Given the description of an element on the screen output the (x, y) to click on. 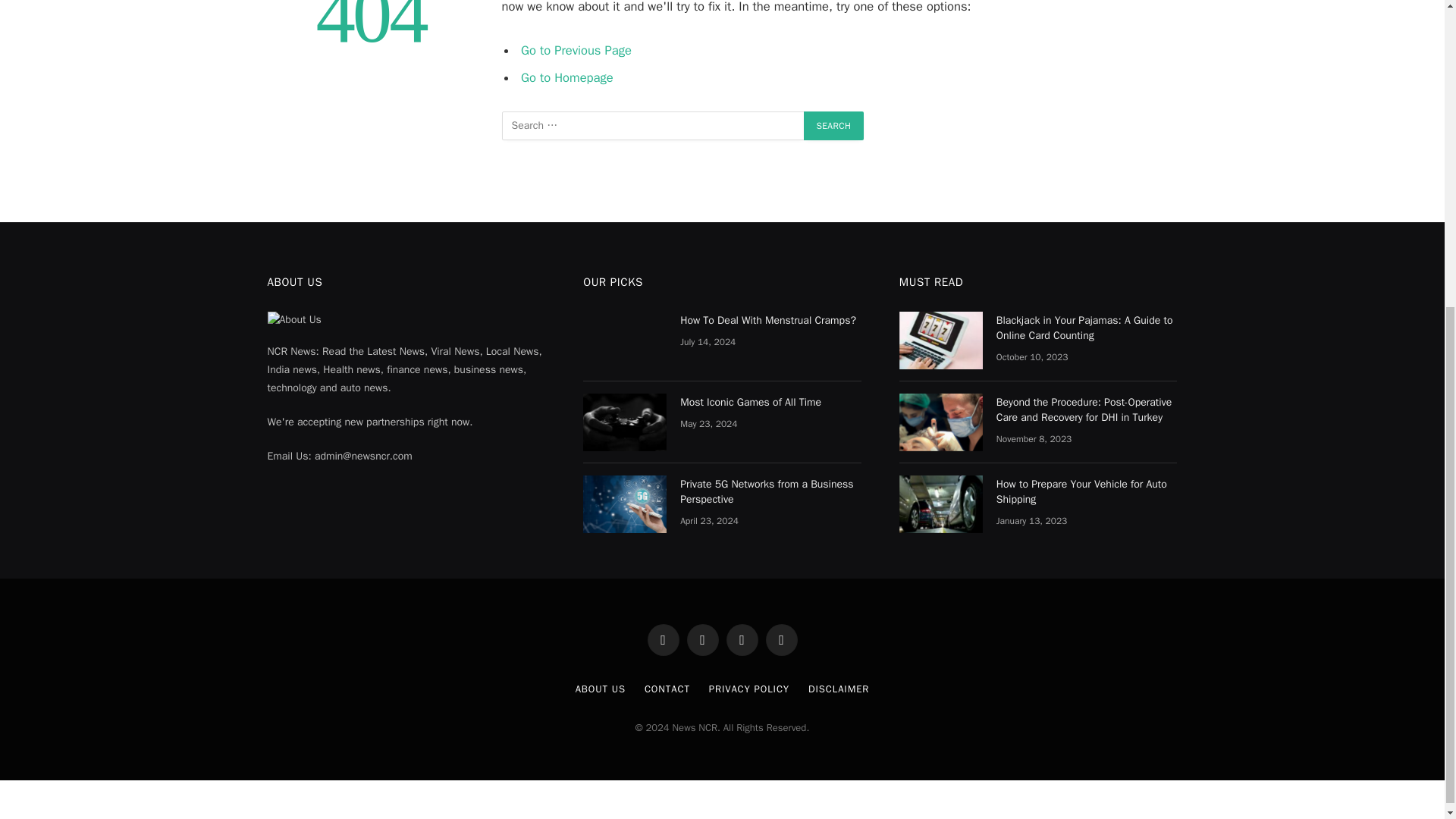
Most Iconic Games of All Time (624, 422)
How To Deal With Menstrual Cramps? (624, 340)
Search (833, 125)
Private 5G Networks from a Business Perspective (624, 504)
How to Prepare Your Vehicle for Auto Shipping (940, 504)
Blackjack in Your Pajamas: A Guide to Online Card Counting (940, 340)
Search (833, 125)
